Given the description of an element on the screen output the (x, y) to click on. 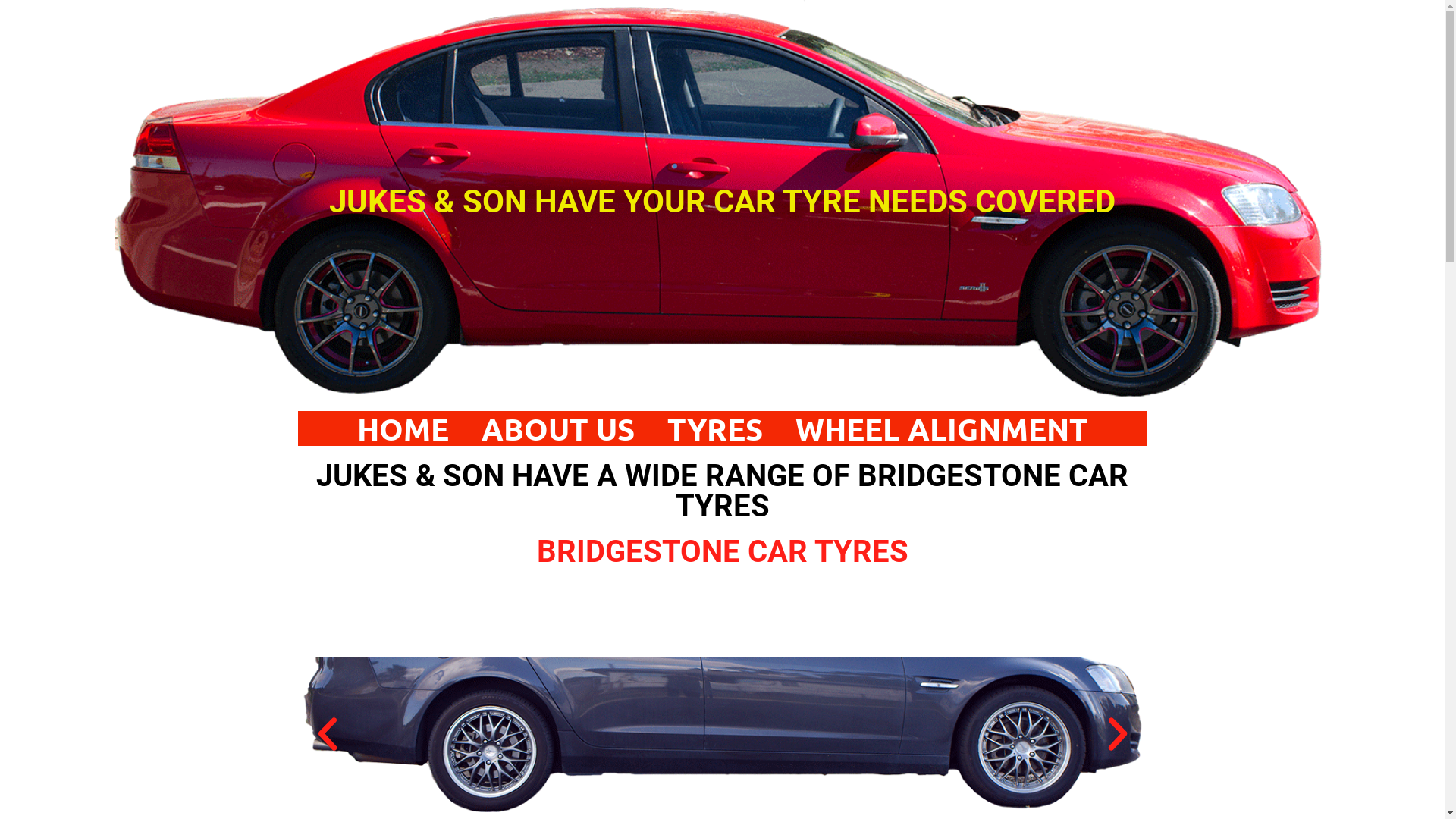
HOME Element type: text (402, 428)
WHEEL ALIGNMENT Element type: text (940, 428)
TYRES Element type: text (715, 428)
ABOUT US Element type: text (557, 428)
